Given the description of an element on the screen output the (x, y) to click on. 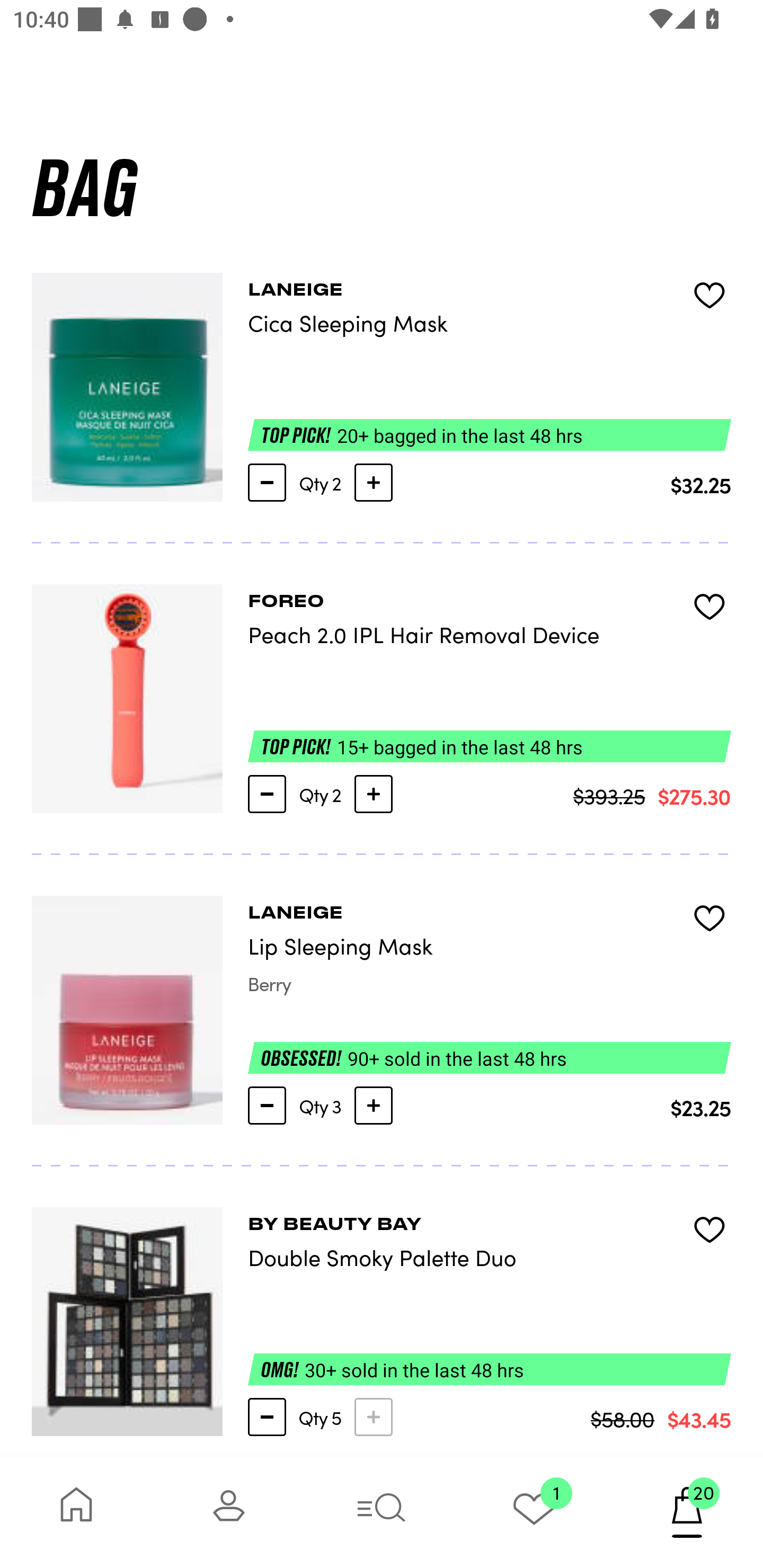
1 (533, 1512)
20 (686, 1512)
